Given the description of an element on the screen output the (x, y) to click on. 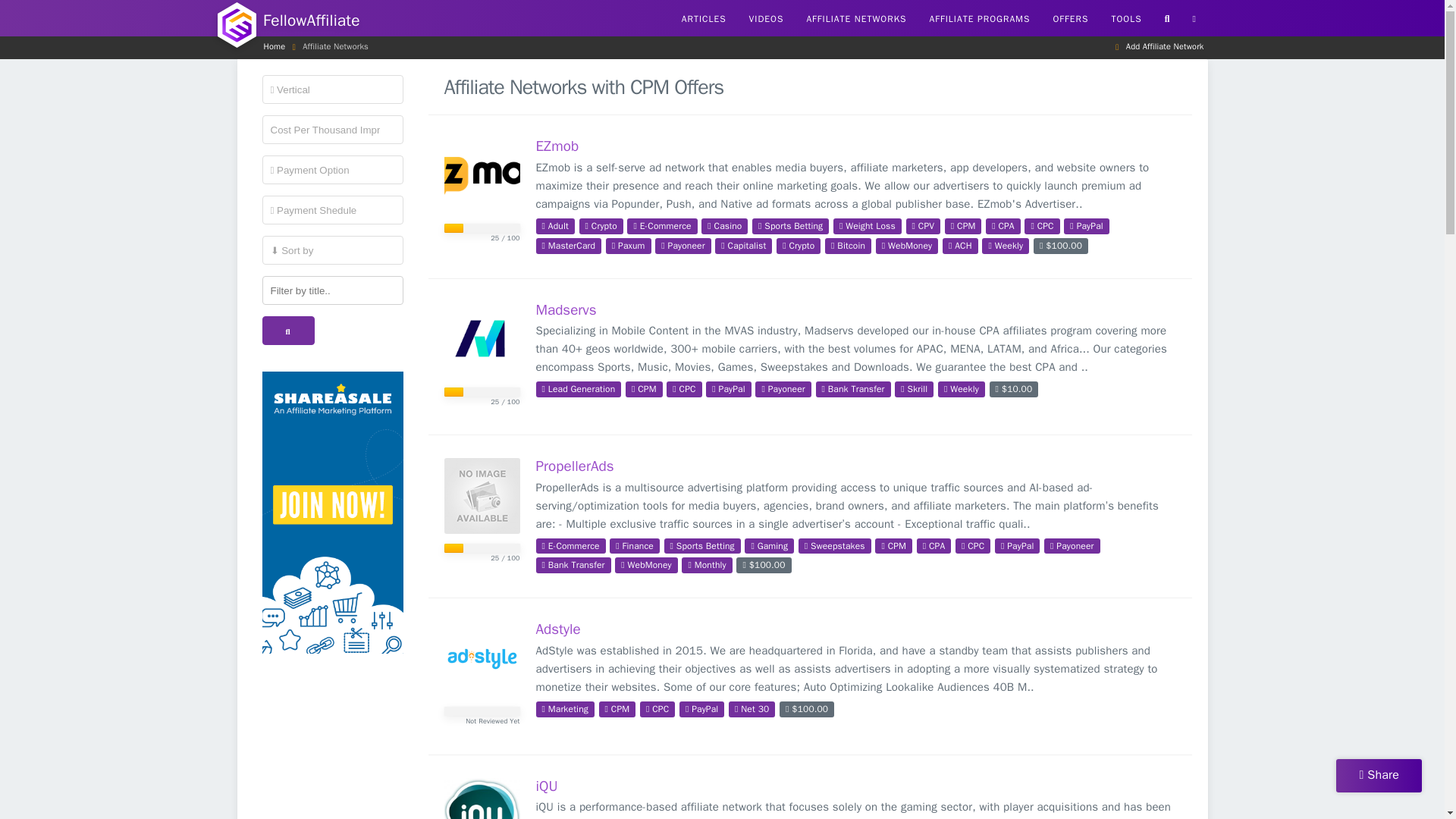
AFFILIATE PROGRAMS (980, 18)
iQU (481, 798)
Add Affiliate Network (1164, 45)
TOOLS (1126, 18)
Home (274, 45)
FellowAffiliate (229, 20)
EZmob (556, 146)
VIDEOS (766, 18)
Adstyle (481, 658)
OFFERS (1070, 18)
PropellerAds (481, 495)
Madservs (481, 339)
EZmob (481, 175)
AFFILIATE NETWORKS (855, 18)
ARTICLES (703, 18)
